Given the description of an element on the screen output the (x, y) to click on. 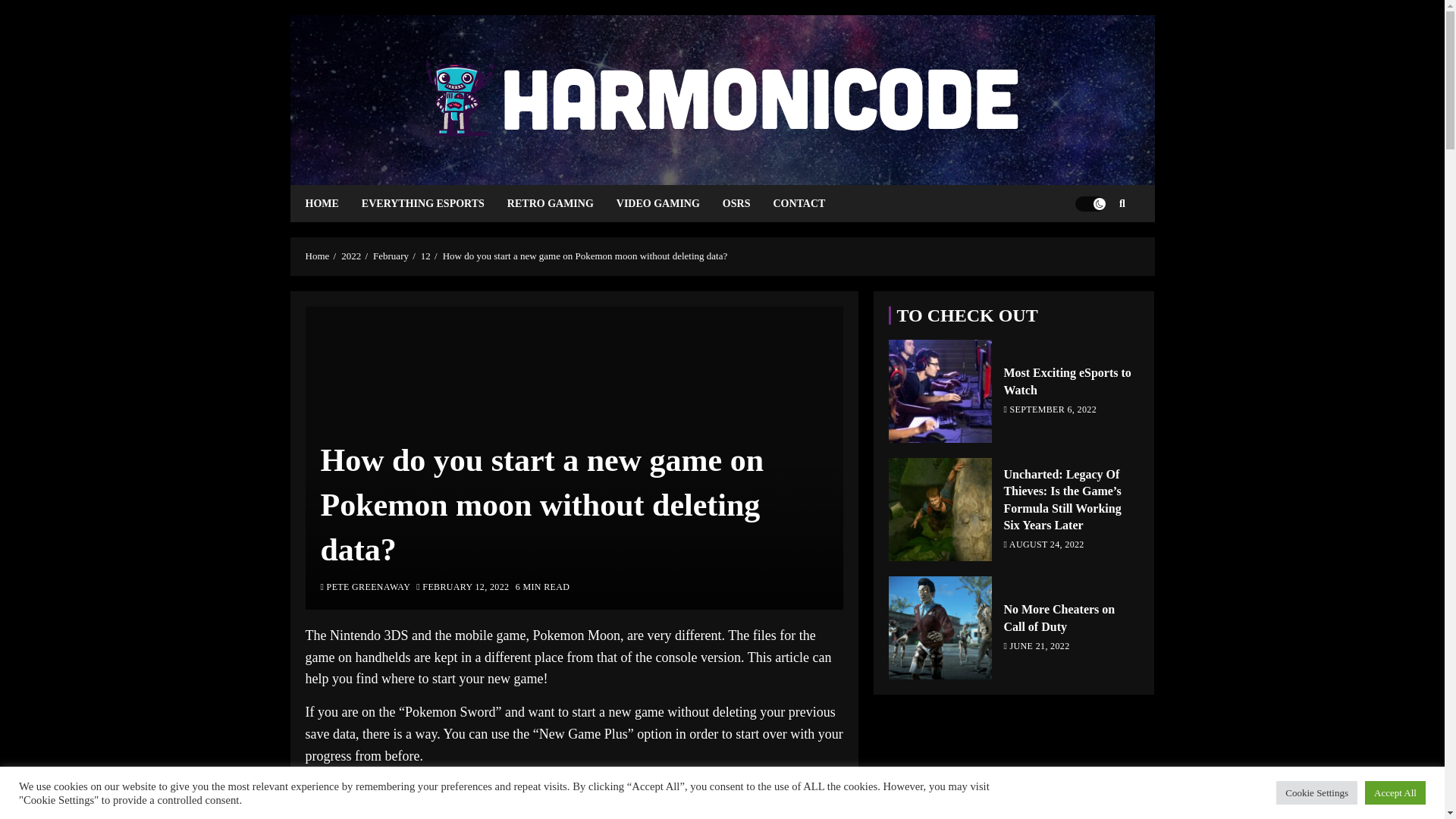
VIDEO GAMING (668, 203)
CONTACT (810, 203)
OSRS (747, 203)
2022 (350, 256)
February (390, 256)
Search (1092, 249)
RETRO GAMING (560, 203)
Home (316, 256)
EVERYTHING ESPORTS (433, 203)
HOME (332, 203)
PETE GREENAWAY (365, 587)
